Given the description of an element on the screen output the (x, y) to click on. 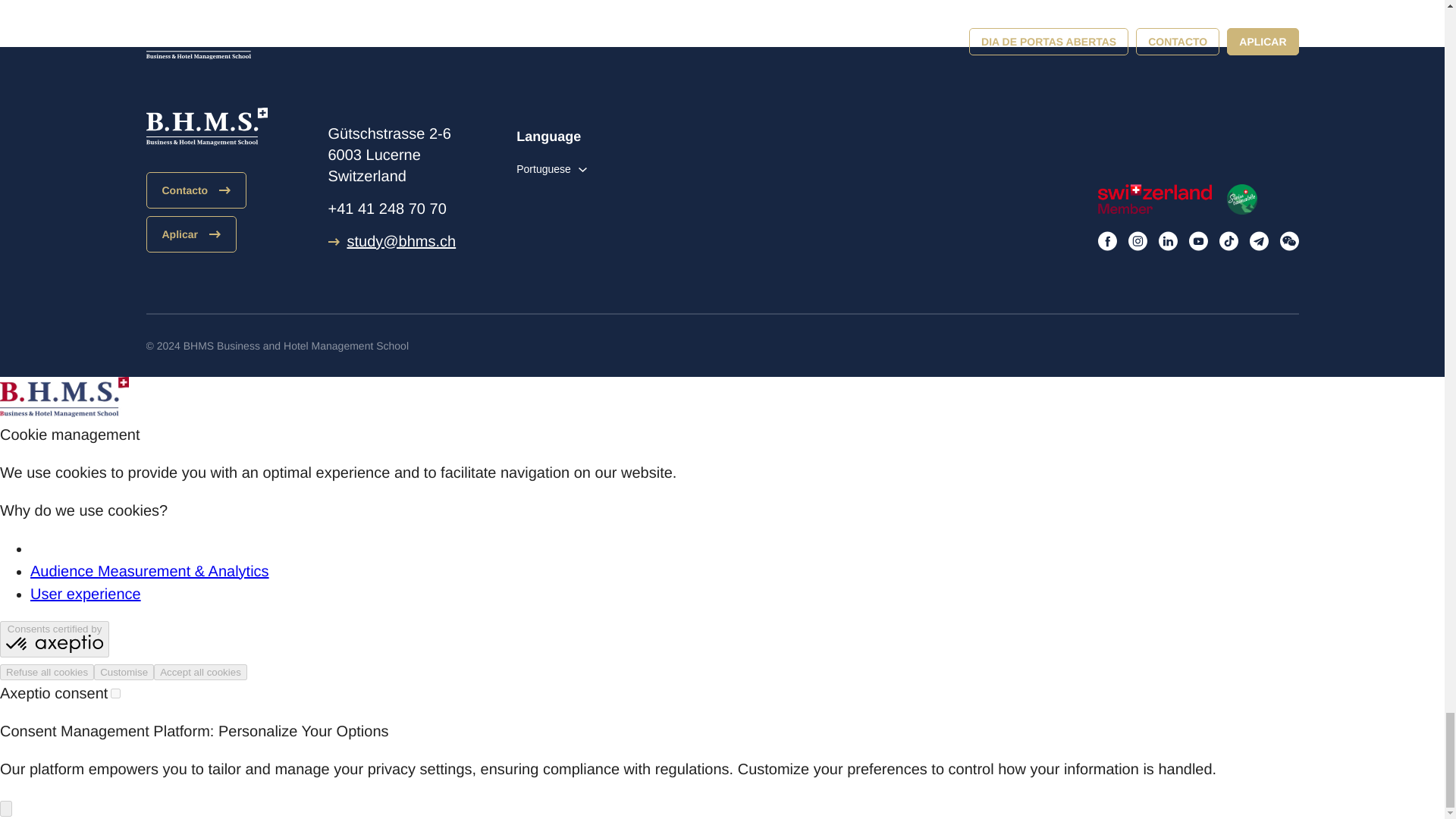
Aplicar (190, 233)
Portuguese (551, 168)
Contacto (195, 189)
